Given the description of an element on the screen output the (x, y) to click on. 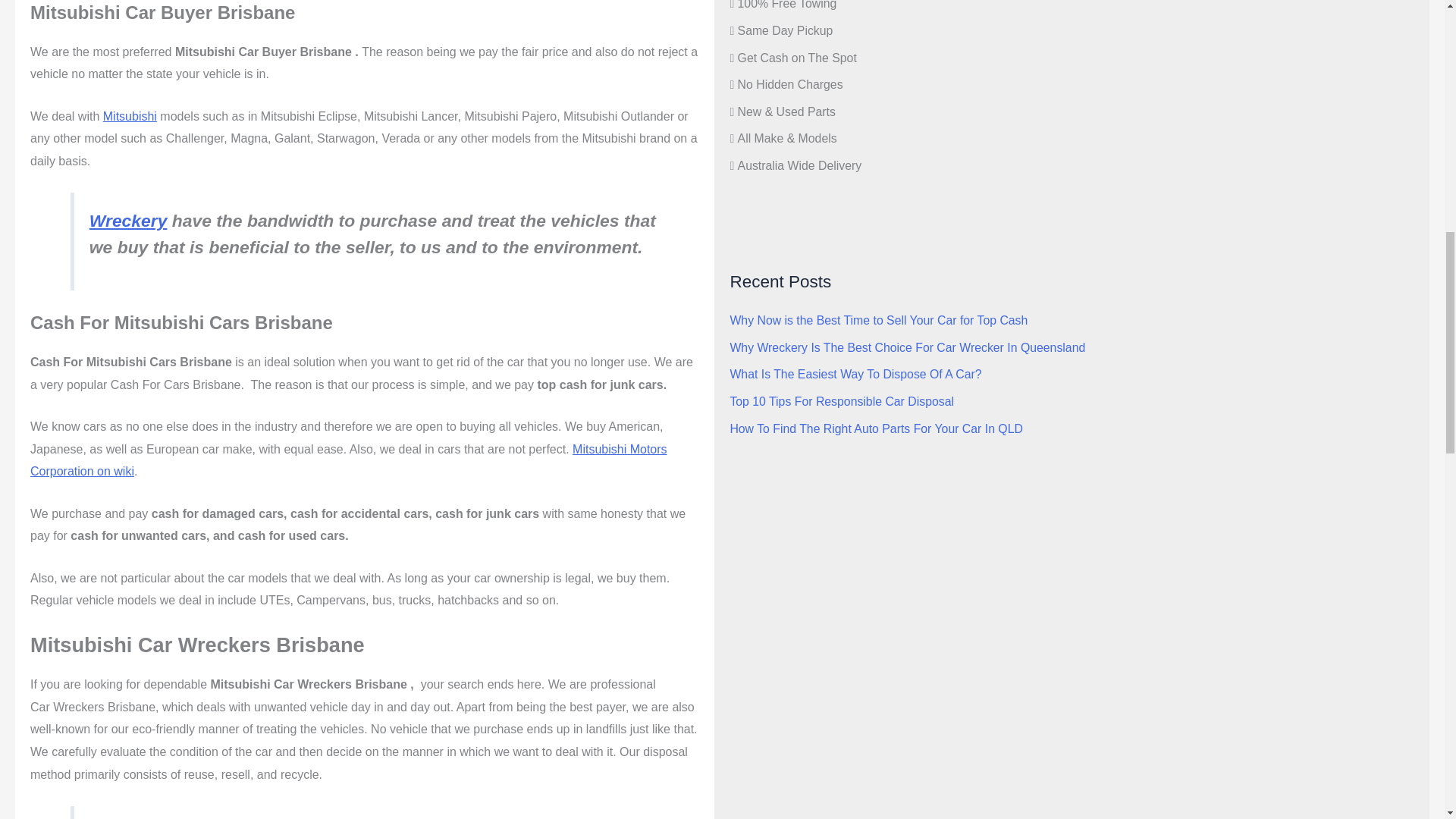
Mitsubishi (130, 115)
Mitsubishi Motors Corporation on wiki (348, 460)
Wreckery (836, 205)
Wreckery (127, 220)
